Given the description of an element on the screen output the (x, y) to click on. 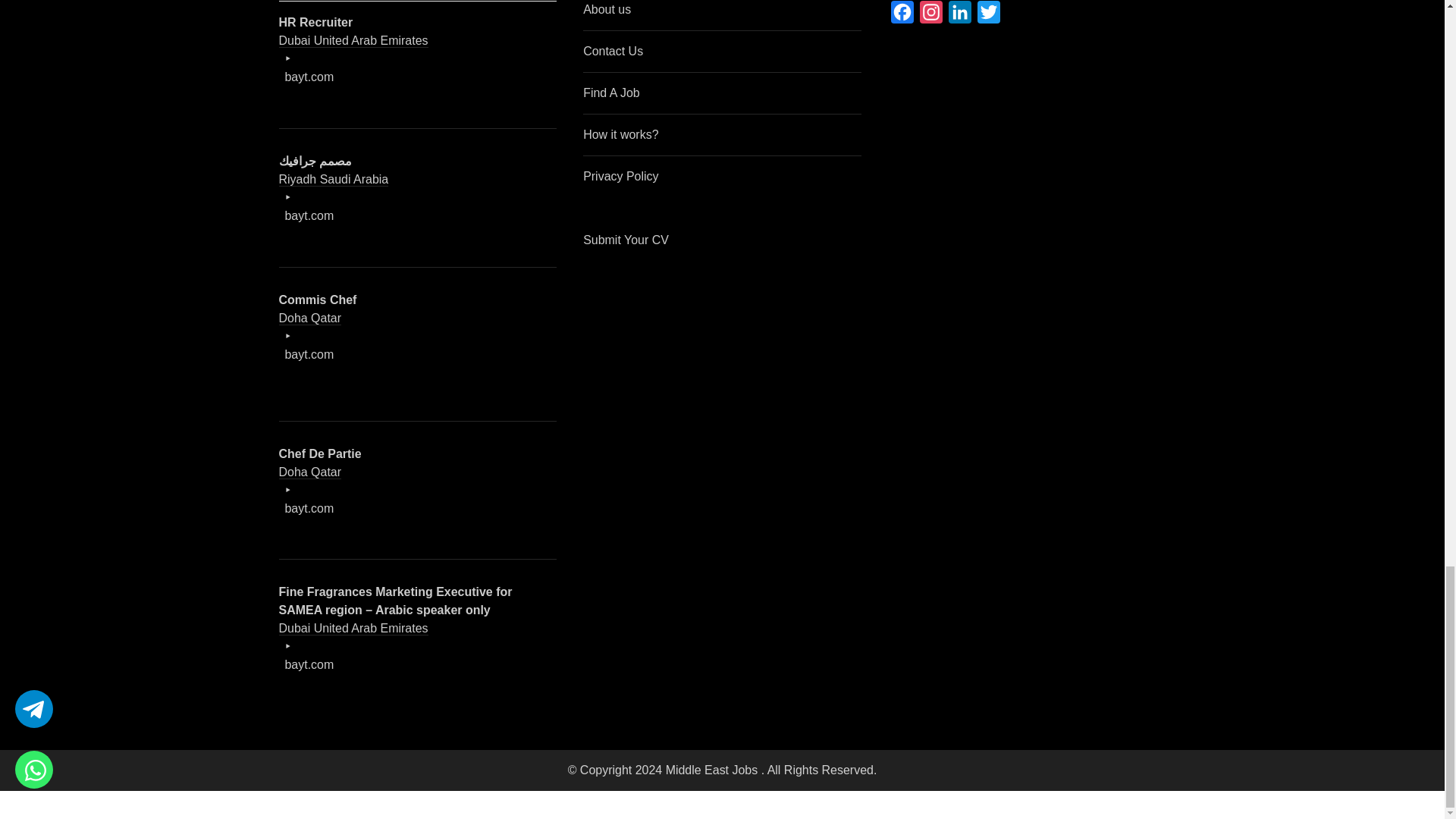
LinkedIn (959, 15)
Instagram (930, 15)
Twitter (988, 15)
Facebook (902, 15)
